Given the description of an element on the screen output the (x, y) to click on. 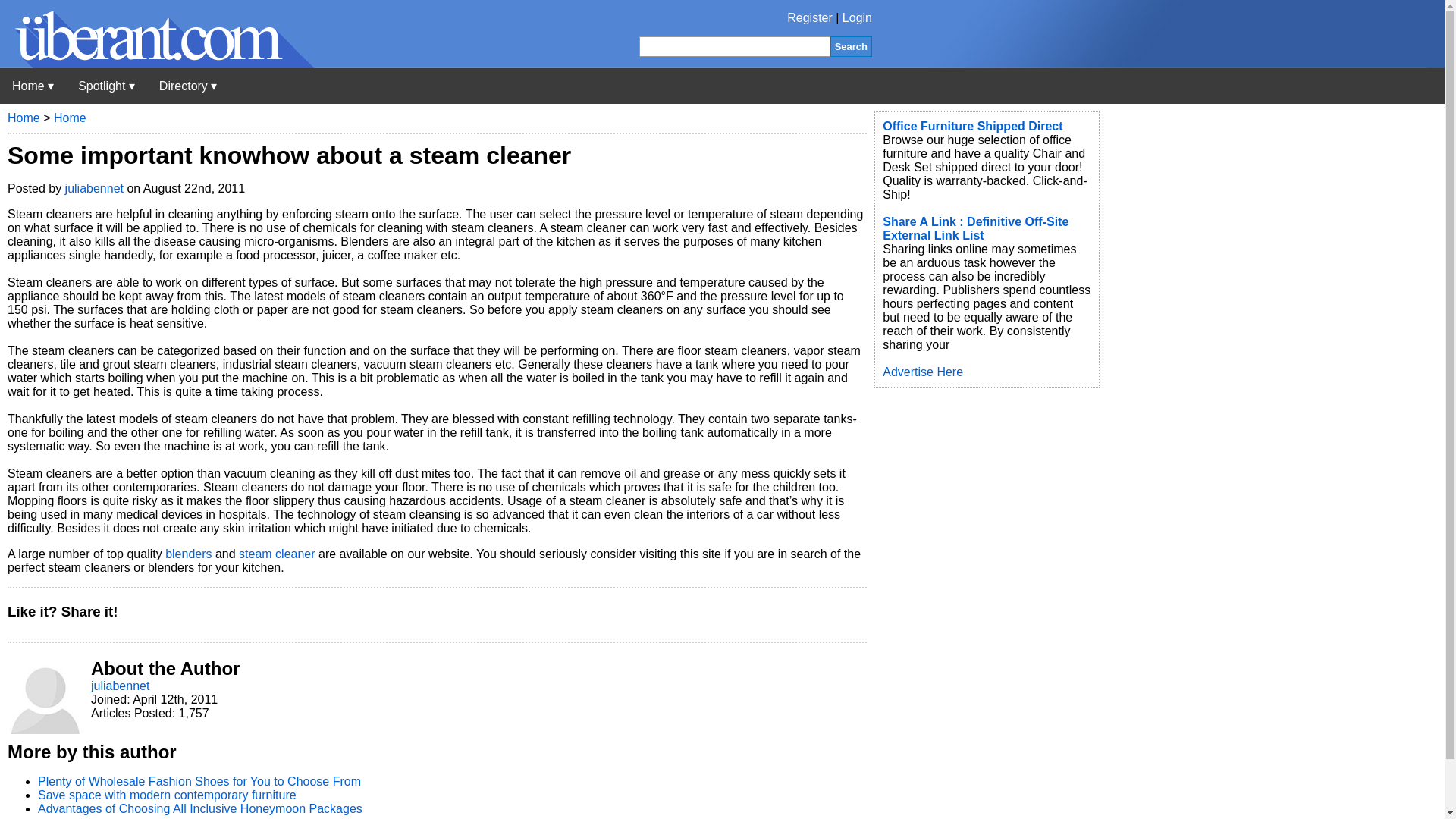
Register (809, 17)
Uberant (32, 85)
Search (850, 46)
Login (857, 17)
Uberant (157, 63)
Search (850, 46)
